Given the description of an element on the screen output the (x, y) to click on. 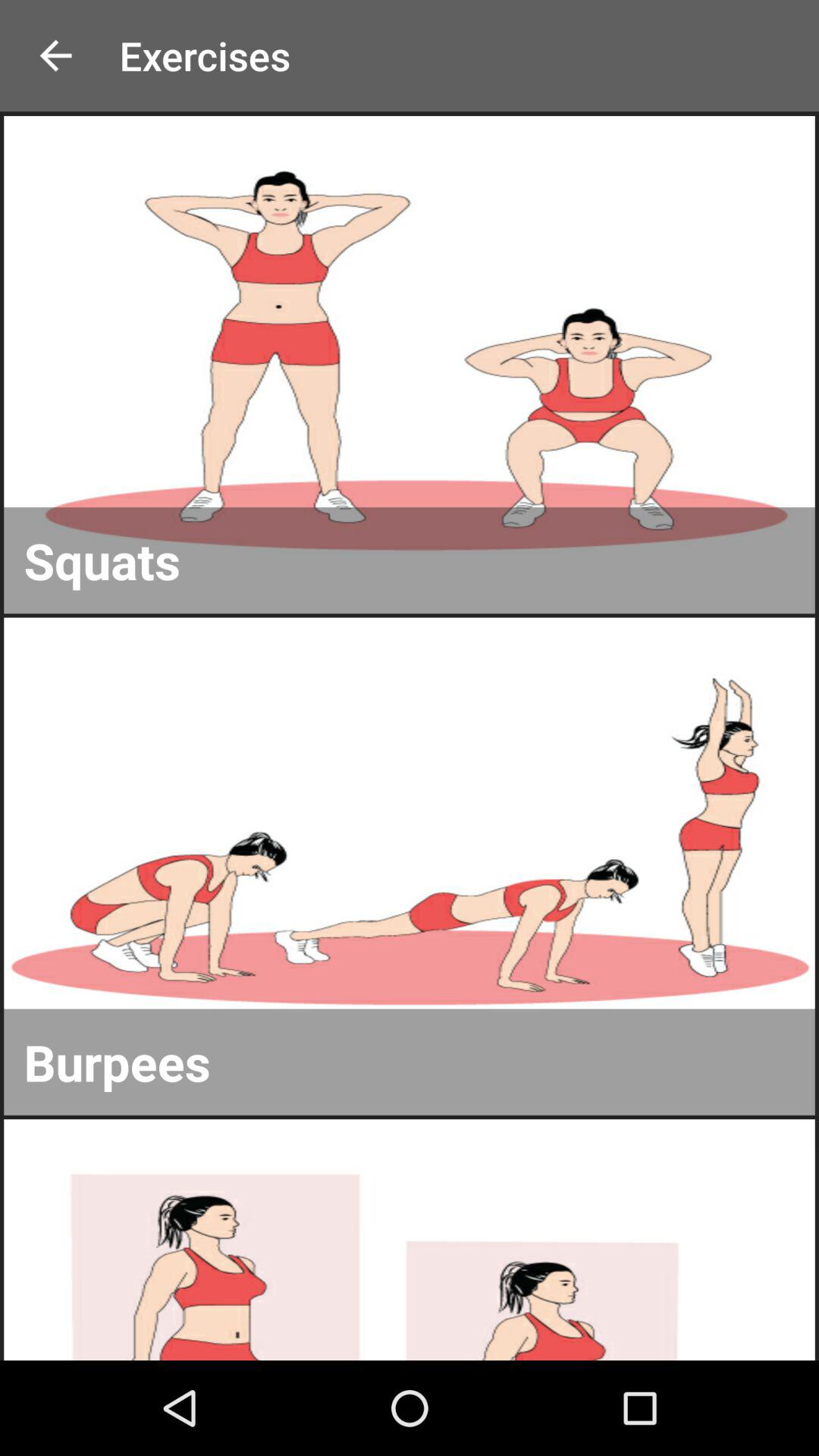
tap the item to the left of the exercises icon (55, 55)
